Given the description of an element on the screen output the (x, y) to click on. 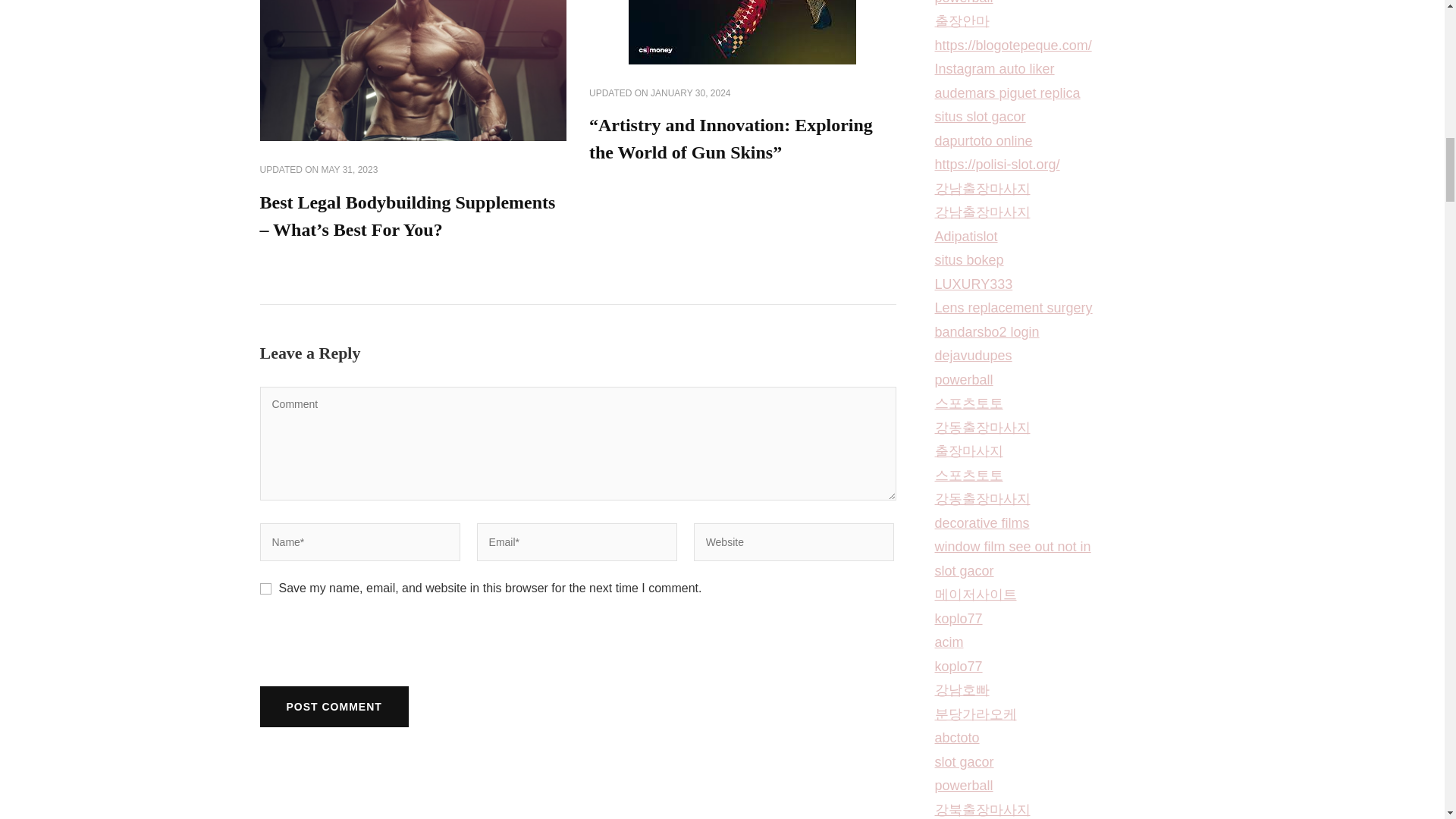
MAY 31, 2023 (349, 170)
reCAPTCHA (374, 651)
Post Comment (333, 706)
JANUARY 30, 2024 (690, 93)
